Given the description of an element on the screen output the (x, y) to click on. 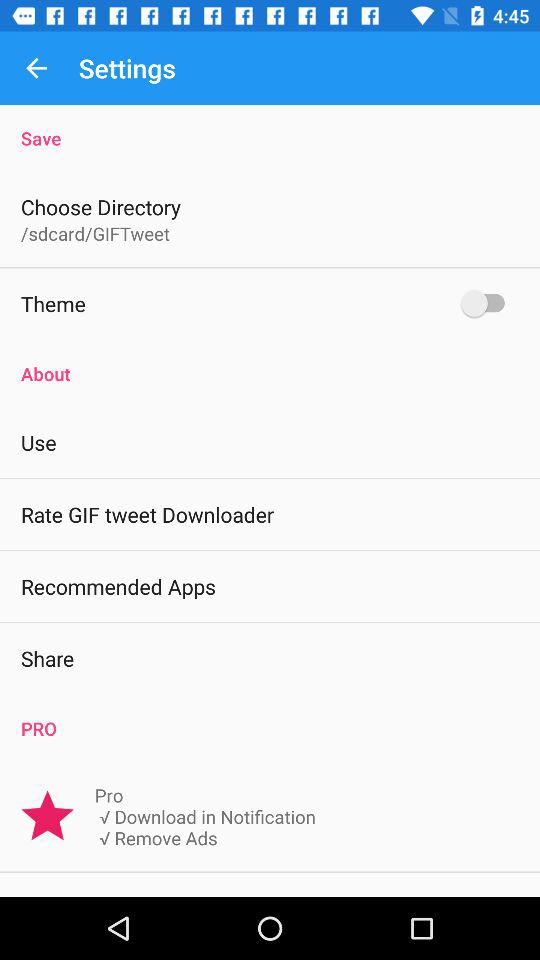
click about item (270, 363)
